Given the description of an element on the screen output the (x, y) to click on. 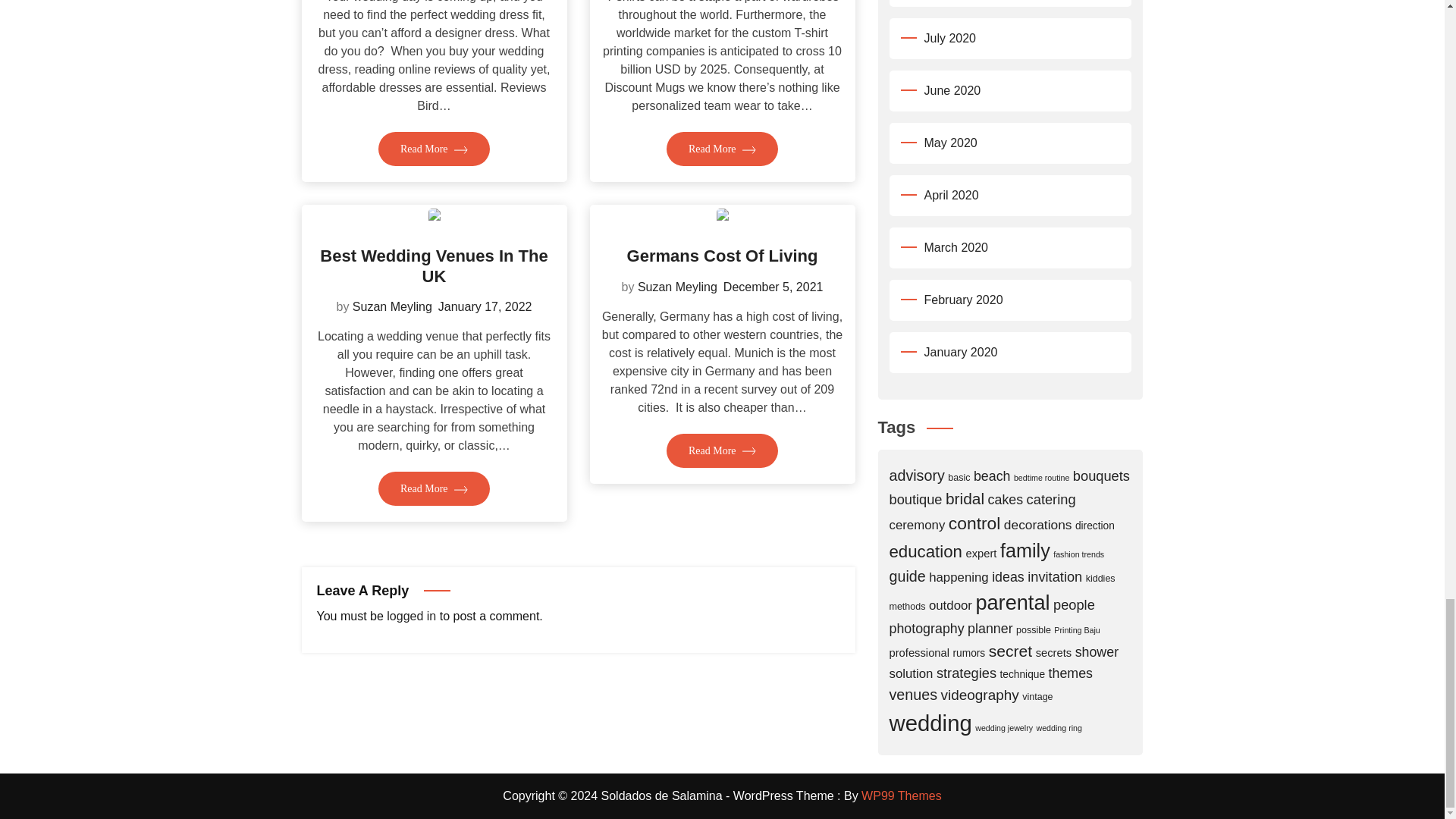
Suzan Meyling (392, 306)
Suzan Meyling (677, 286)
Germans Cost Of Living (722, 255)
Read More (721, 148)
Read More (433, 488)
Best Wedding Venues In The UK (433, 265)
January 17, 2022 (485, 306)
December 5, 2021 (773, 286)
Read More (433, 148)
